Given the description of an element on the screen output the (x, y) to click on. 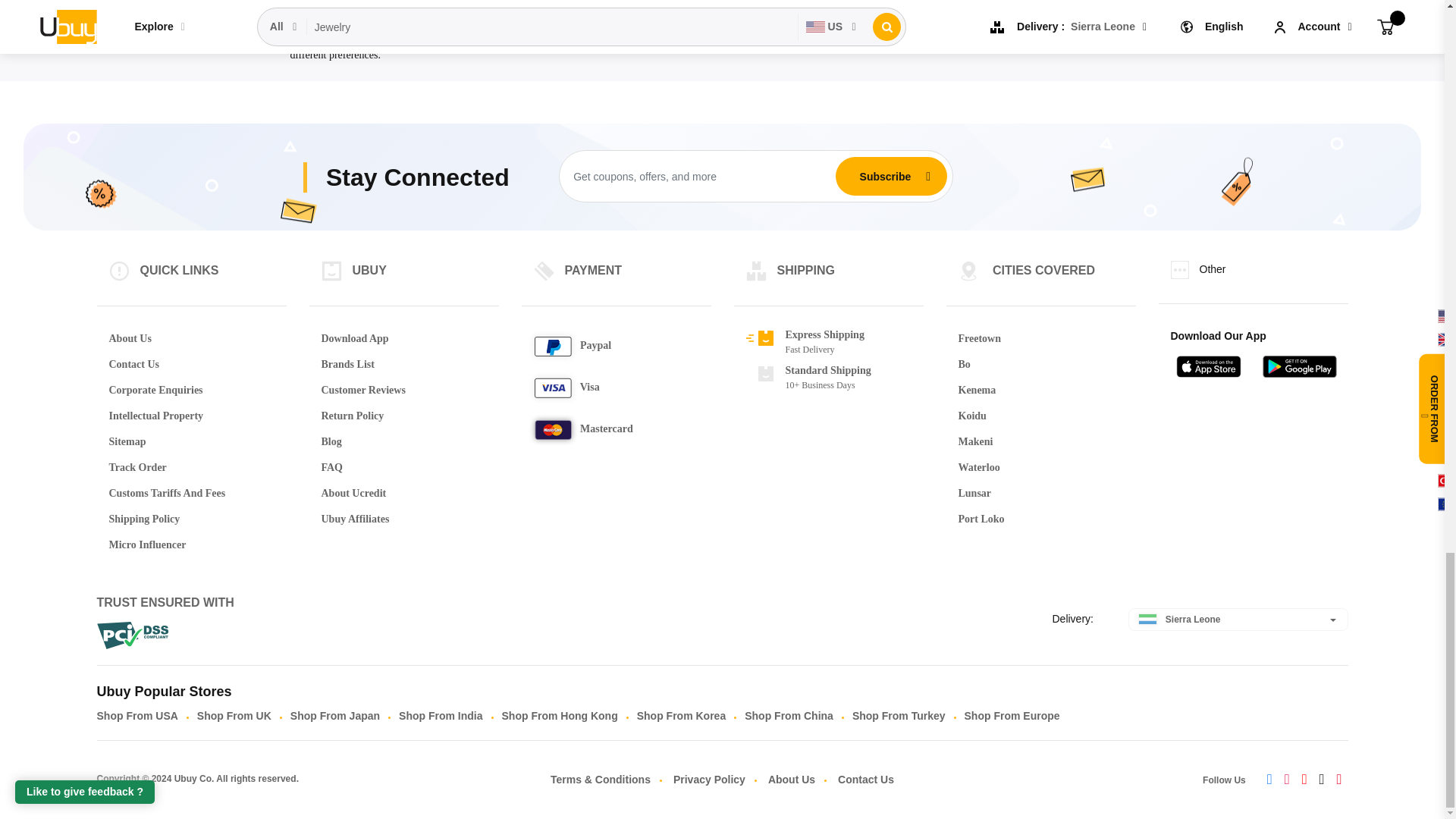
Subscribe (885, 176)
